Given the description of an element on the screen output the (x, y) to click on. 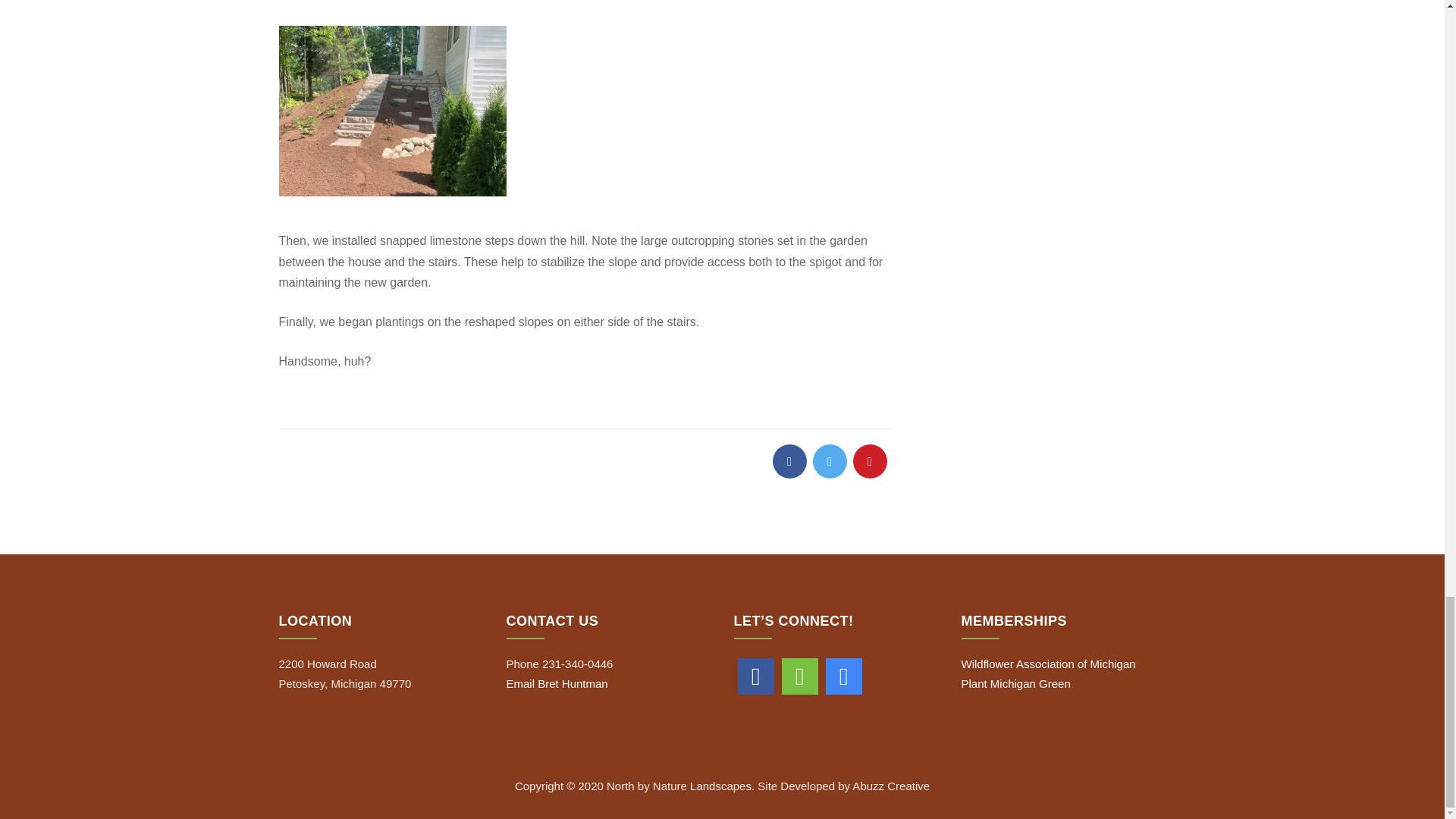
Share on Facebook (788, 461)
Share on Twitter (829, 461)
Share on Pinterest (868, 461)
Facebook (754, 676)
